Given the description of an element on the screen output the (x, y) to click on. 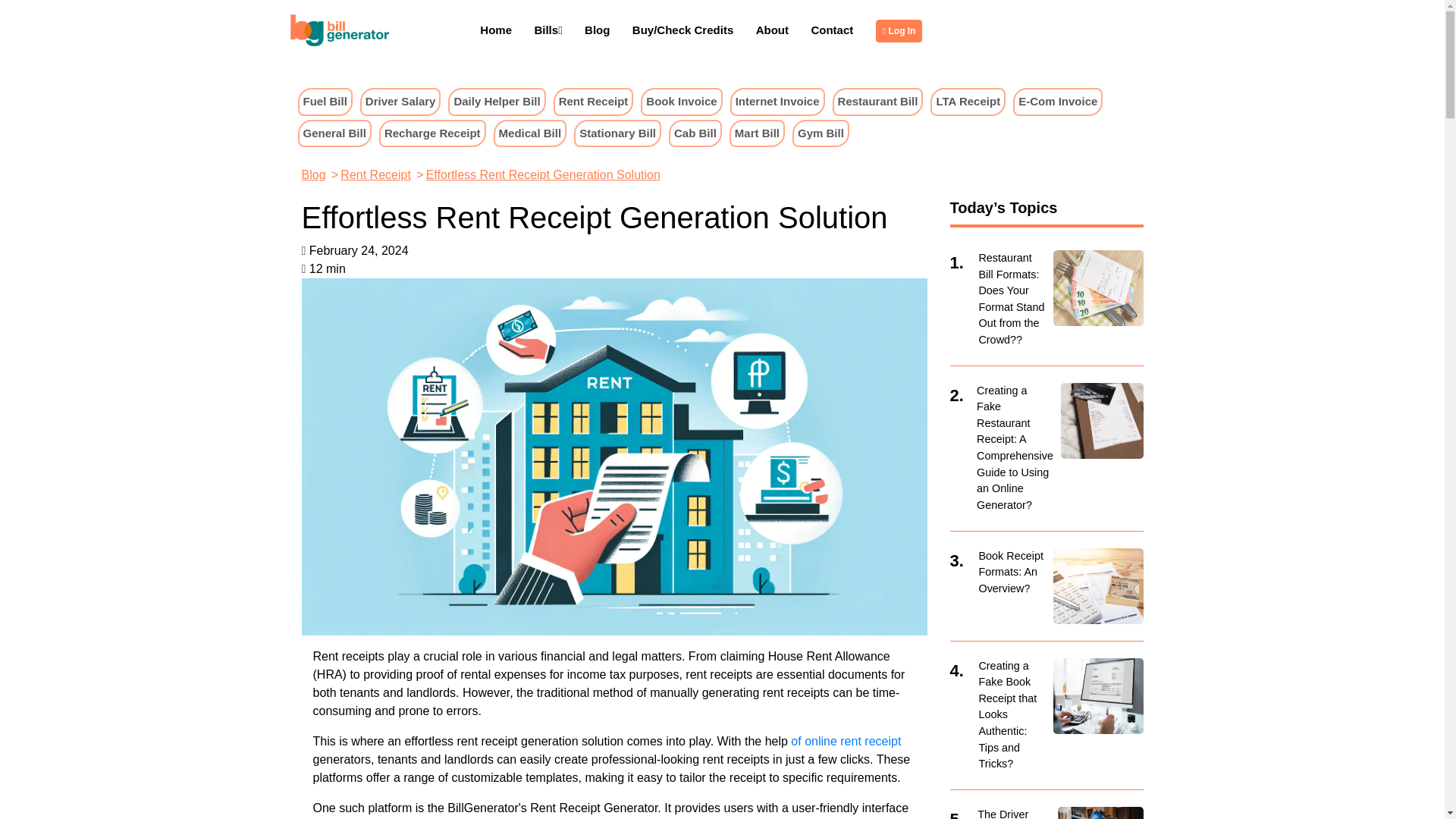
Restaurant Bill (877, 101)
Internet Invoice (777, 101)
Restaurant Bill (878, 101)
Contact (831, 30)
Fuel Bill (324, 101)
Daily Helper Bill (496, 101)
LTA Receipt (968, 101)
Book Invoice (681, 101)
Internet Invoice (777, 101)
Book Invoice (681, 101)
Driver Salary (400, 101)
Fuel Bill (324, 101)
Daily Helper Bill (496, 101)
Rent Receipt (593, 101)
Rent Receipt (593, 101)
